Given the description of an element on the screen output the (x, y) to click on. 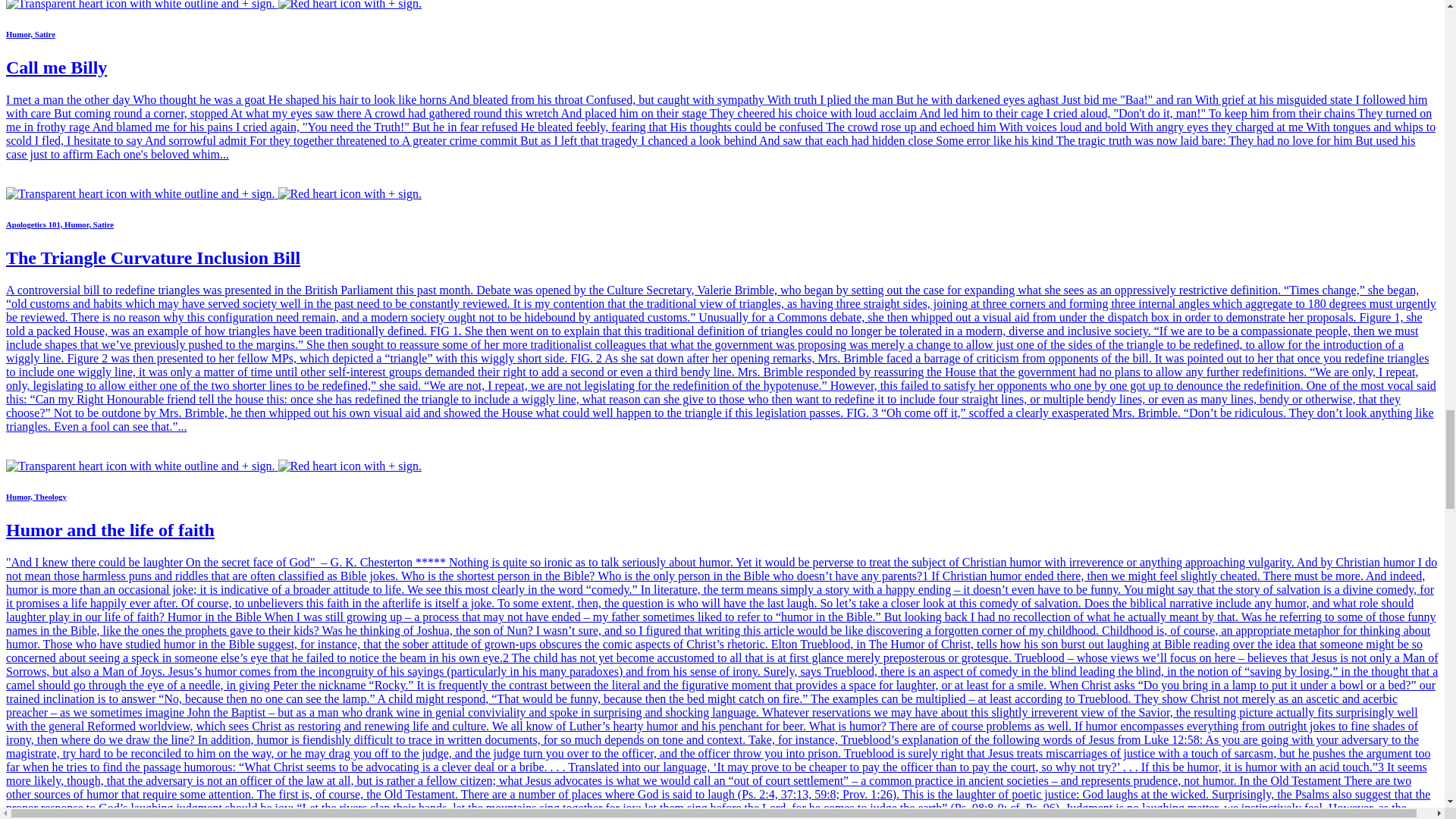
Subscribe to RP (213, 4)
Subscribe to RP (213, 465)
Subscribe to RP (213, 193)
